Given the description of an element on the screen output the (x, y) to click on. 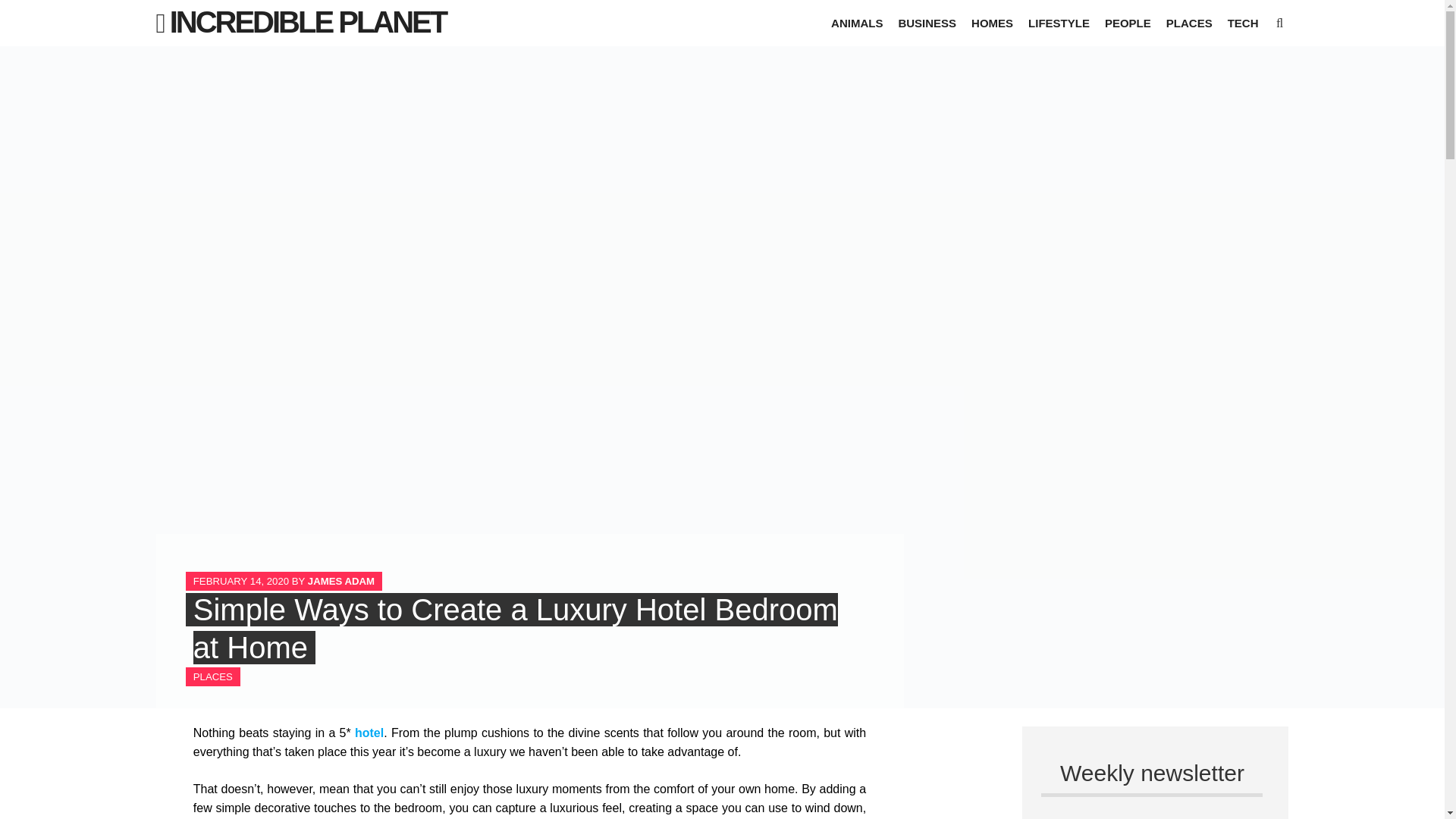
ANIMALS (856, 22)
INCREDIBLE PLANET (308, 21)
Simple Ways to Create a Luxury Hotel Bedroom at Home (515, 628)
PEOPLE (1128, 22)
PLACES (1189, 22)
BUSINESS (927, 22)
JAMES ADAM (340, 581)
Search (25, 11)
PLACES (212, 676)
HOMES (992, 22)
